Given the description of an element on the screen output the (x, y) to click on. 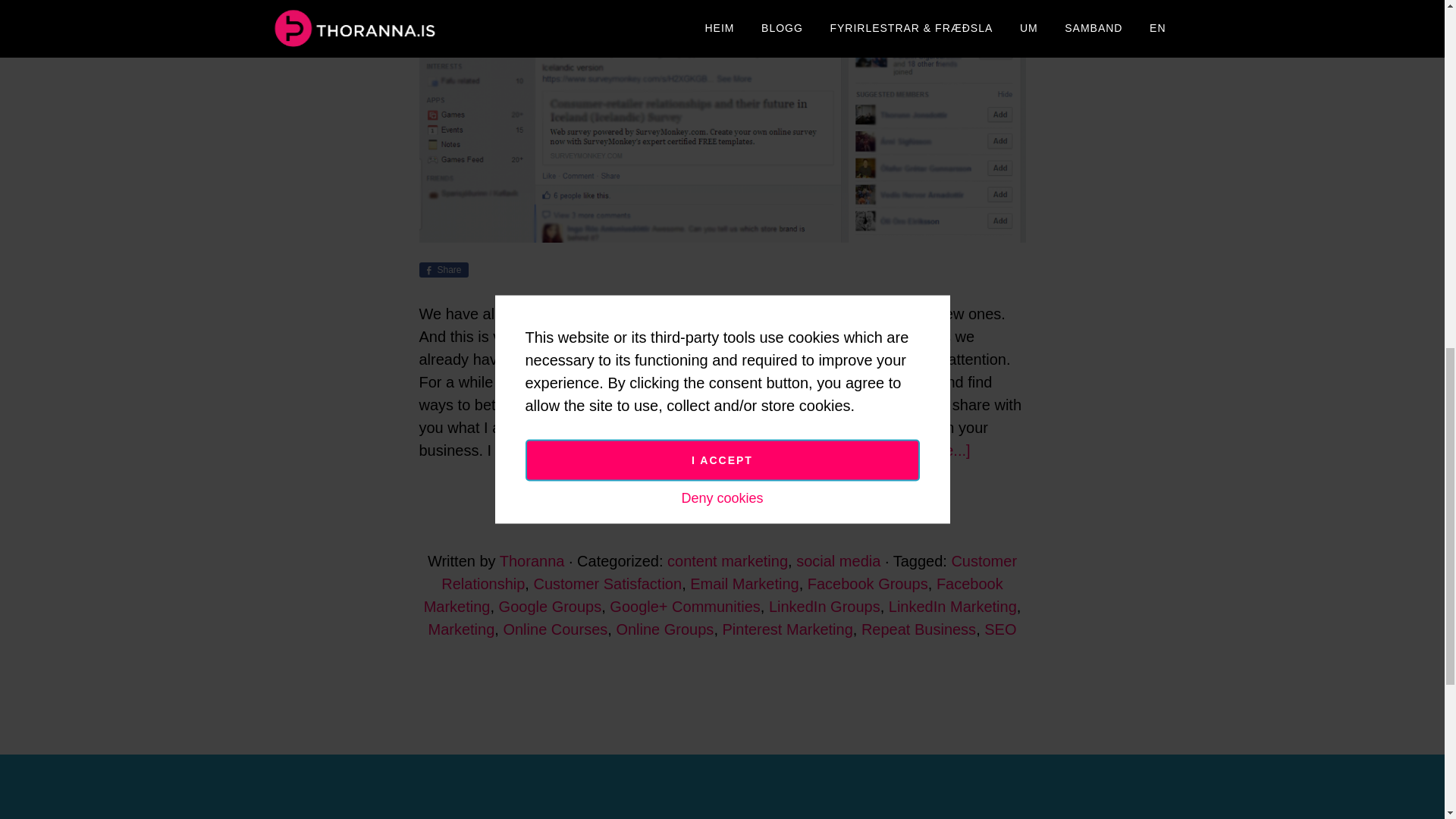
SEO (1000, 629)
Online Groups (664, 629)
Marketing (461, 629)
content marketing (726, 560)
Facebook Groups (868, 583)
Facebook Marketing (713, 595)
social media (838, 560)
Share (443, 269)
Google Groups (550, 606)
Repeat Business (918, 629)
